Given the description of an element on the screen output the (x, y) to click on. 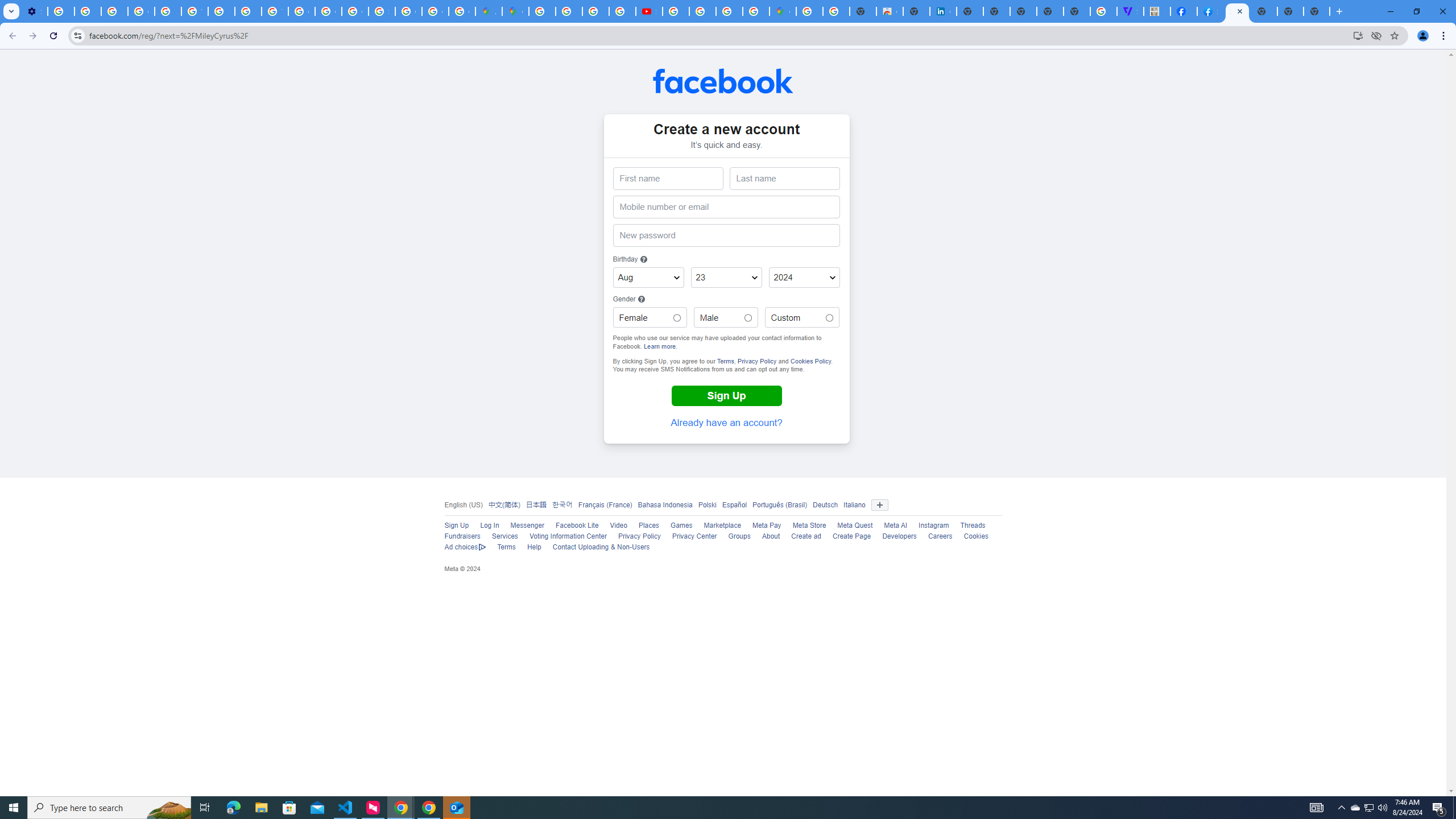
Privacy Help Center - Policies Help (569, 11)
Mobile number or email (726, 206)
Google Account Help (141, 11)
Restore (1416, 11)
Sign Up (456, 525)
Meta Store (809, 525)
Search tabs (10, 11)
Forward (32, 35)
Meta Quest (855, 525)
Video (618, 525)
Click for more information (641, 298)
Last name (784, 178)
